Given the description of an element on the screen output the (x, y) to click on. 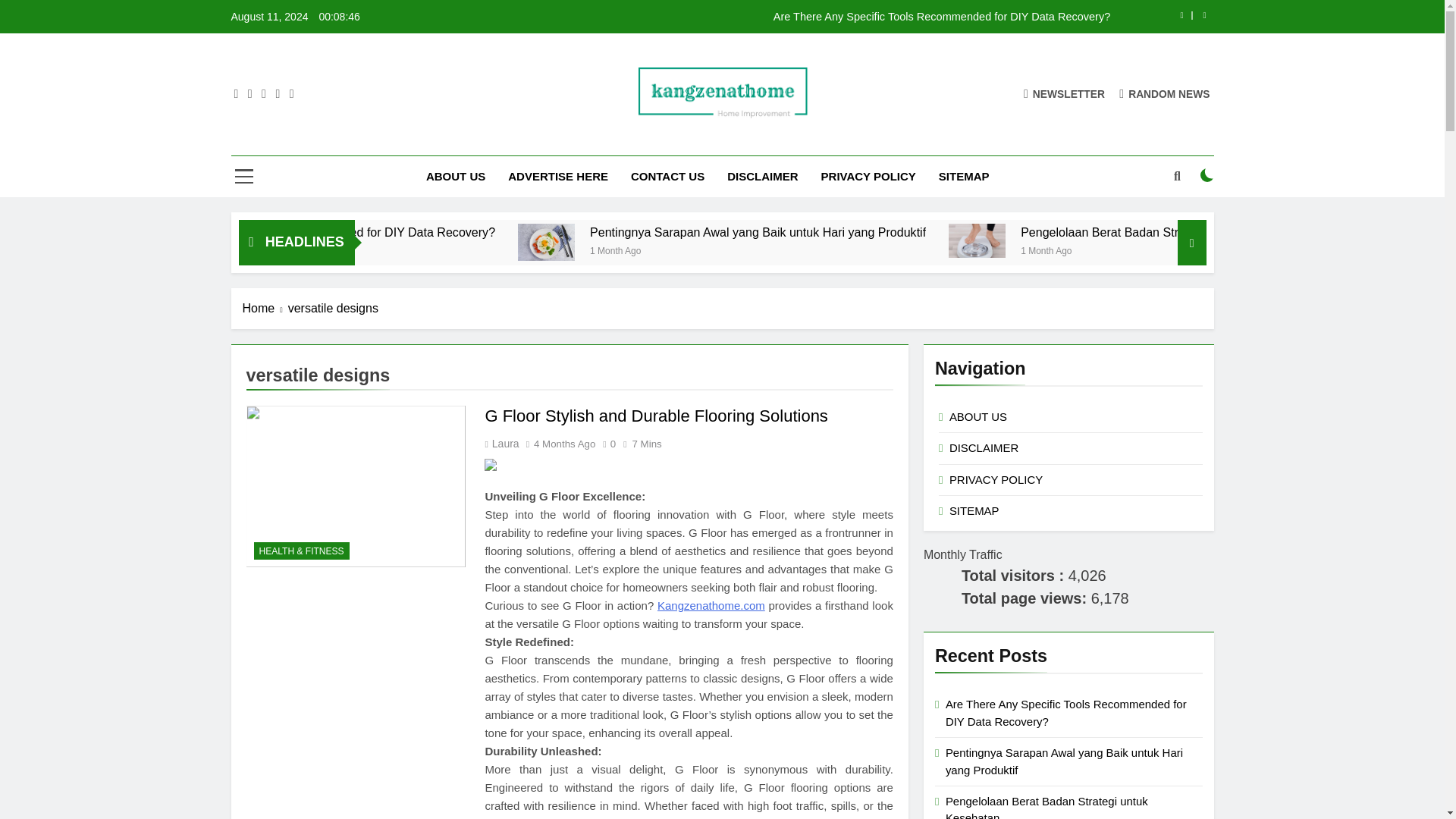
Pengelolaan Berat Badan Strategi untuk Kesehatan (1109, 240)
SITEMAP (964, 176)
Pentingnya Sarapan Awal yang Baik untuk Hari yang Produktif (893, 232)
ABOUT US (455, 176)
PRIVACY POLICY (868, 176)
DISCLAIMER (762, 176)
on (1206, 174)
CONTACT US (668, 176)
2 Weeks Ago (341, 249)
